Given the description of an element on the screen output the (x, y) to click on. 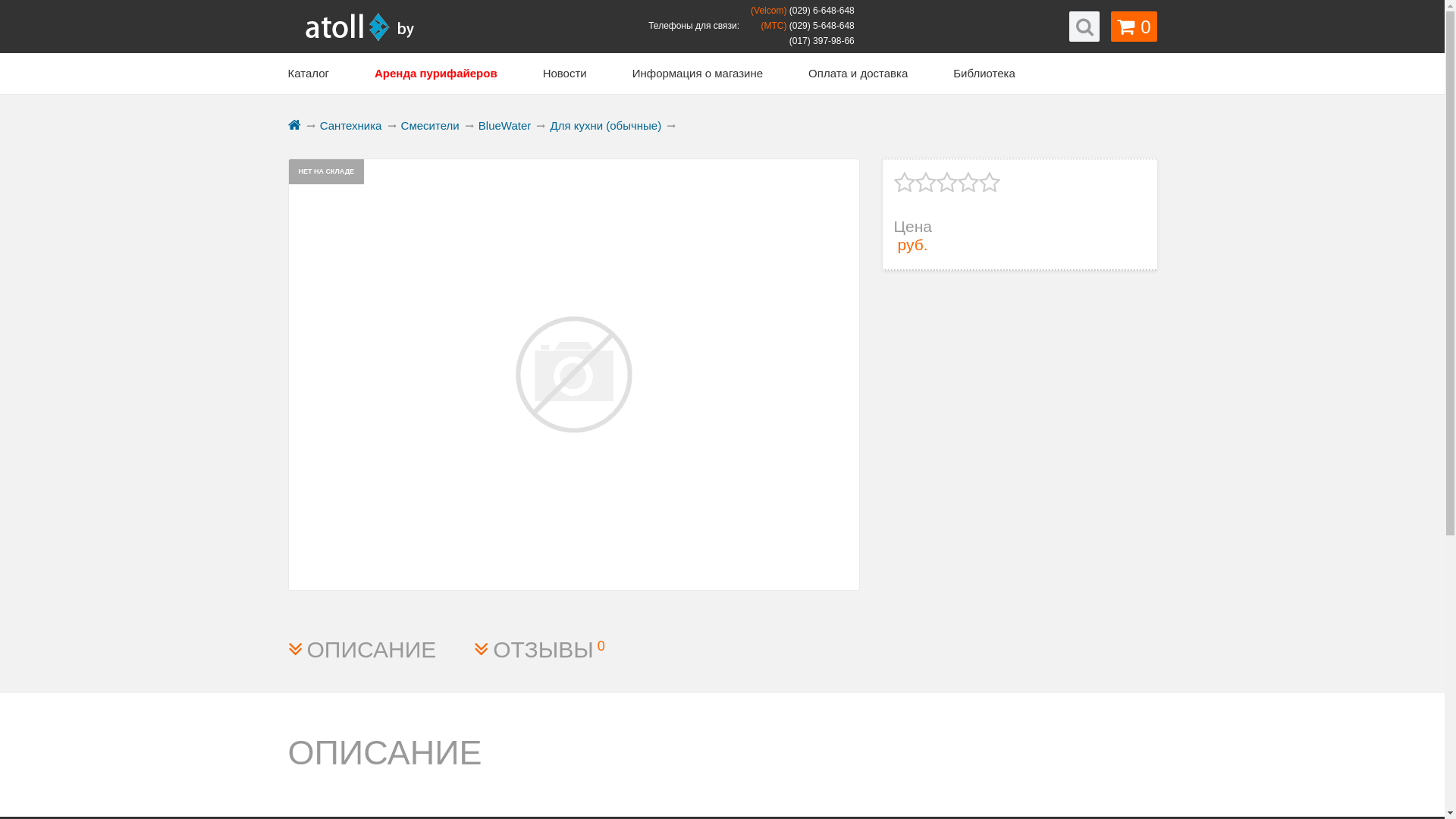
BlueWater Element type: text (504, 125)
0 Element type: text (1133, 26)
